Given the description of an element on the screen output the (x, y) to click on. 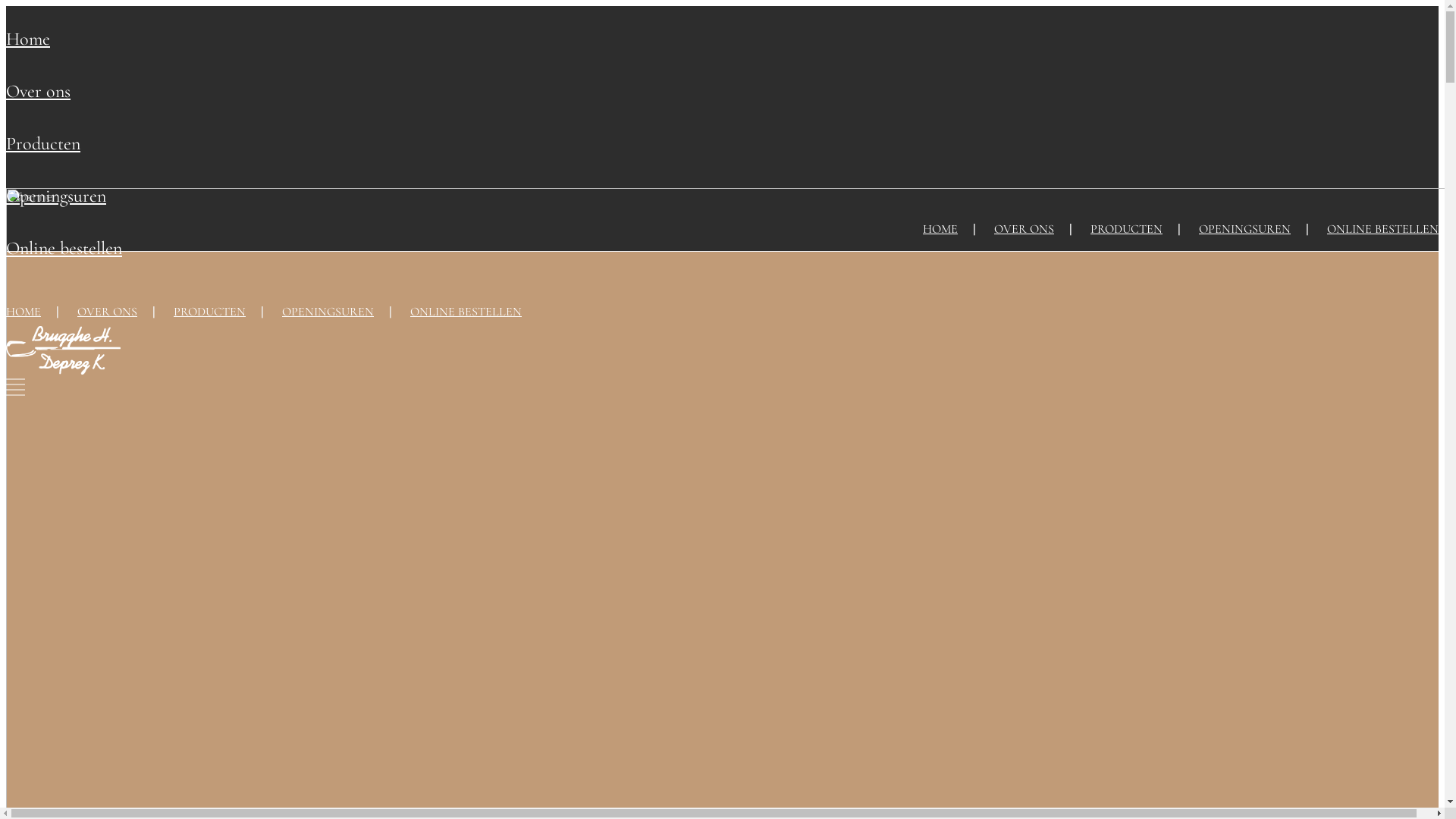
PRODUCTEN Element type: text (209, 311)
PRODUCTEN Element type: text (1126, 228)
producten Element type: text (43, 143)
HOME Element type: text (939, 228)
online bestellen Element type: text (64, 247)
ONLINE BESTELLEN Element type: text (465, 311)
HOME Element type: text (23, 311)
ONLINE BESTELLEN Element type: text (1382, 228)
openingsuren Element type: text (56, 195)
over ons Element type: text (38, 90)
OPENINGSUREN Element type: text (327, 311)
OPENINGSUREN Element type: text (1244, 228)
OVER ONS Element type: text (107, 311)
OVER ONS Element type: text (1024, 228)
home Element type: text (28, 38)
